Given the description of an element on the screen output the (x, y) to click on. 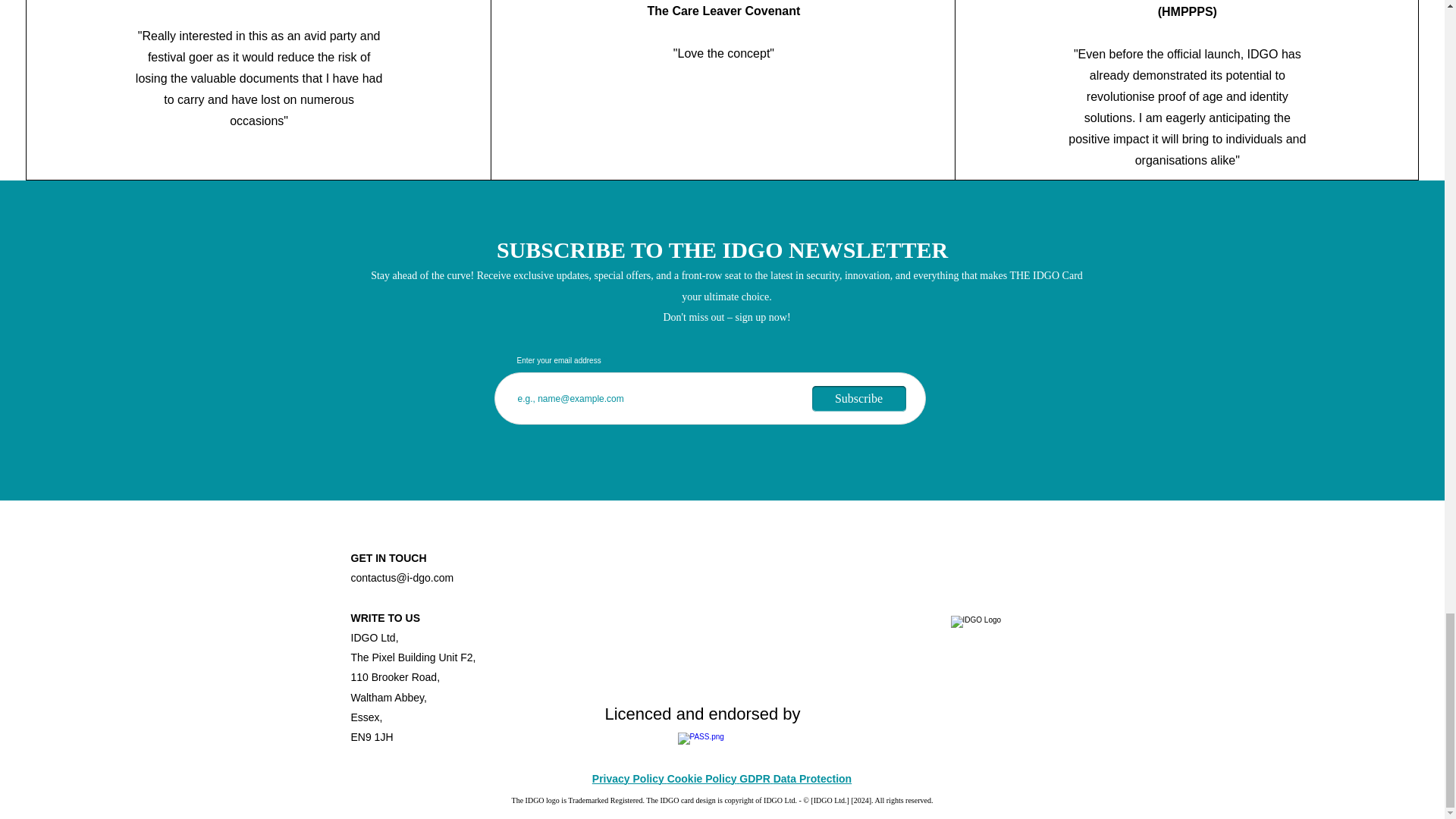
Privacy Policy (627, 779)
Subscribe (857, 398)
GDPR Data Protection (795, 779)
Cookie Policy (701, 779)
